Given the description of an element on the screen output the (x, y) to click on. 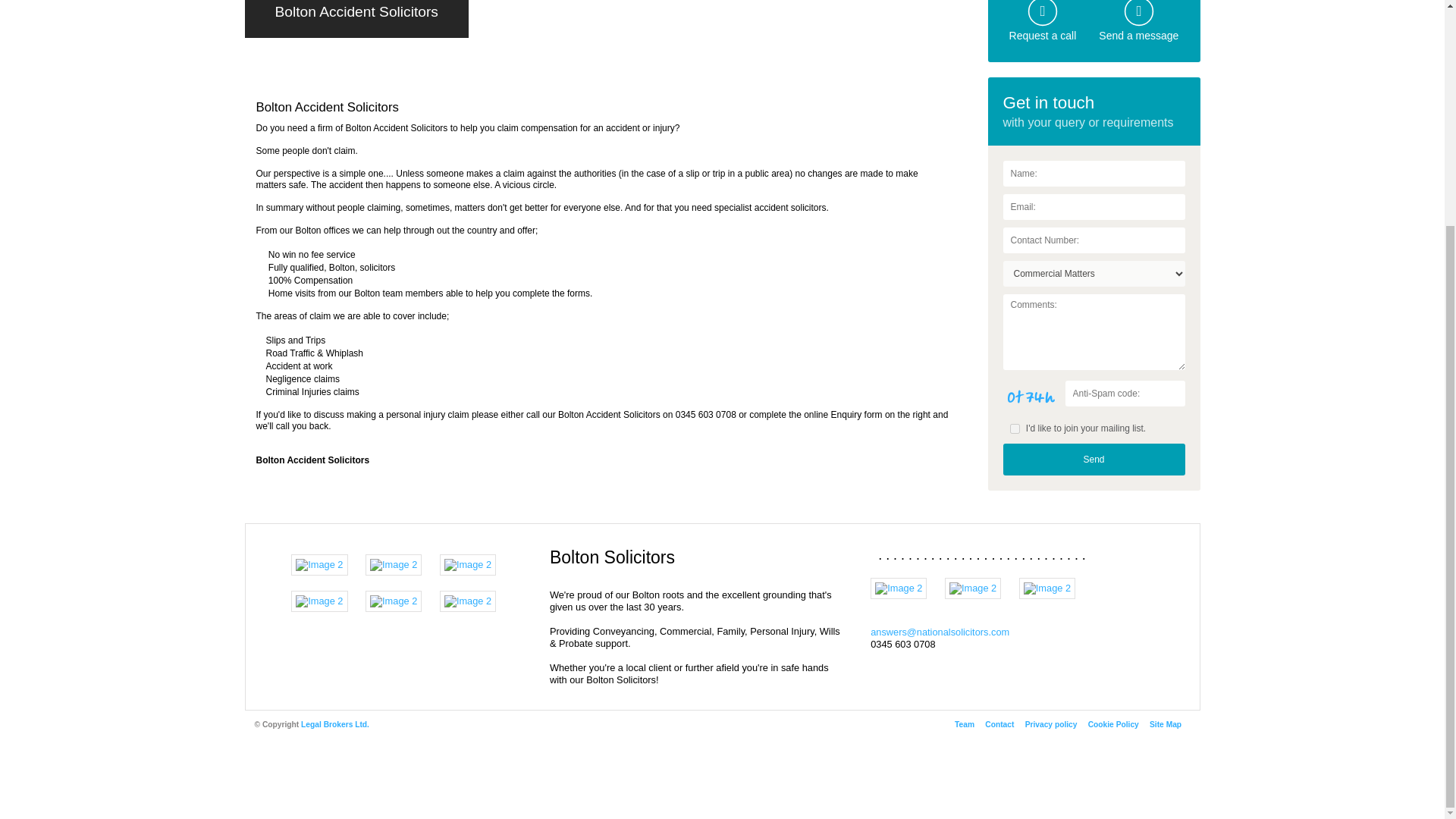
Legal Brokers Ltd. (335, 724)
Send (1094, 459)
Privacy policy (1051, 724)
Bolton Conveyancers (468, 564)
Bolton Accident Solicitors (972, 588)
Bolton Divorce Solicitors (392, 564)
Site Map (1165, 724)
Bolton Family Solicitors (392, 601)
Contact (999, 724)
Probate Solicitors in Bolton (468, 601)
